Given the description of an element on the screen output the (x, y) to click on. 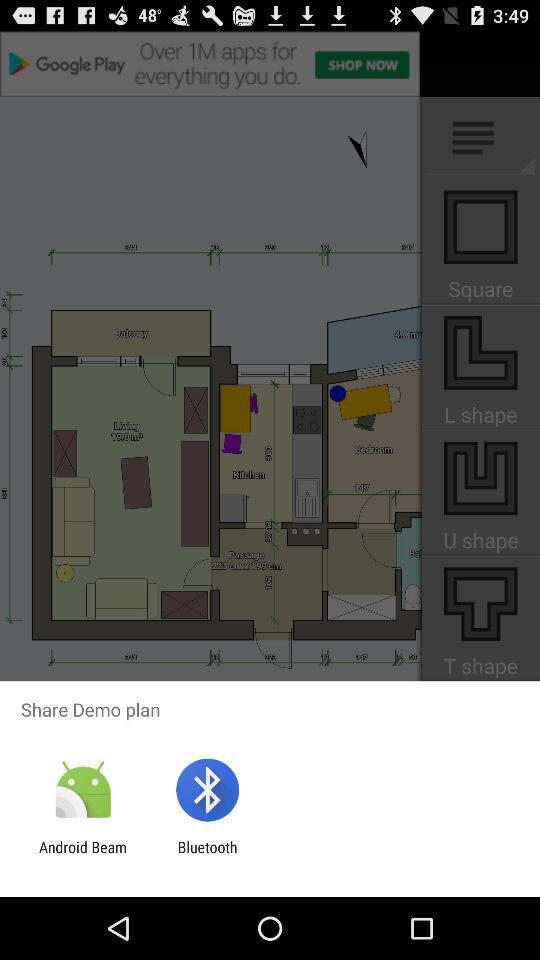
open the app to the left of the bluetooth app (83, 856)
